Given the description of an element on the screen output the (x, y) to click on. 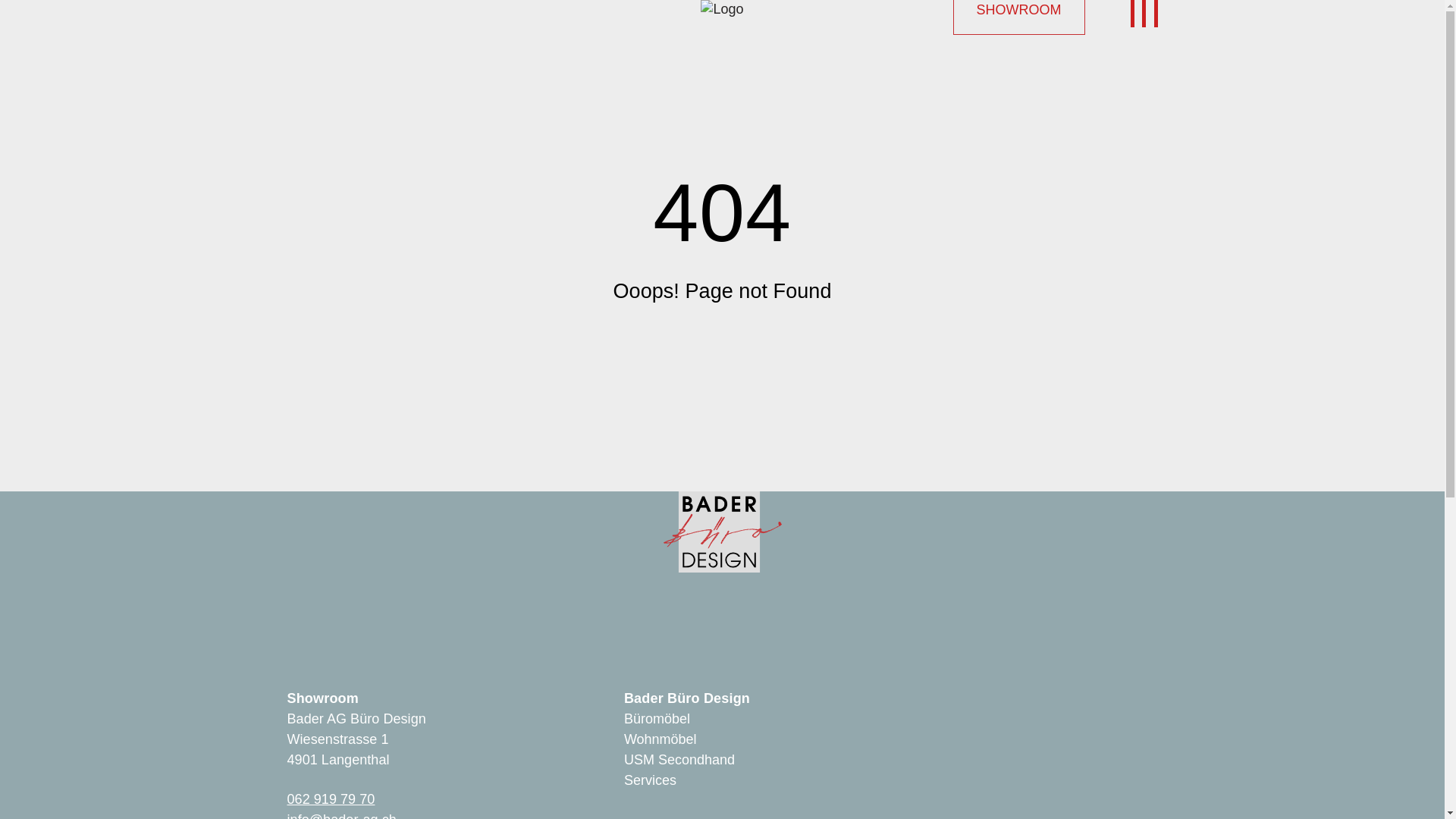
062 919 79 70 Element type: text (330, 798)
Gehen Sie zur Startseite Element type: hover (721, 500)
Services Element type: text (650, 779)
USM Secondhand Element type: text (679, 759)
Gehen Sie zur Startseite Element type: hover (721, 8)
